Given the description of an element on the screen output the (x, y) to click on. 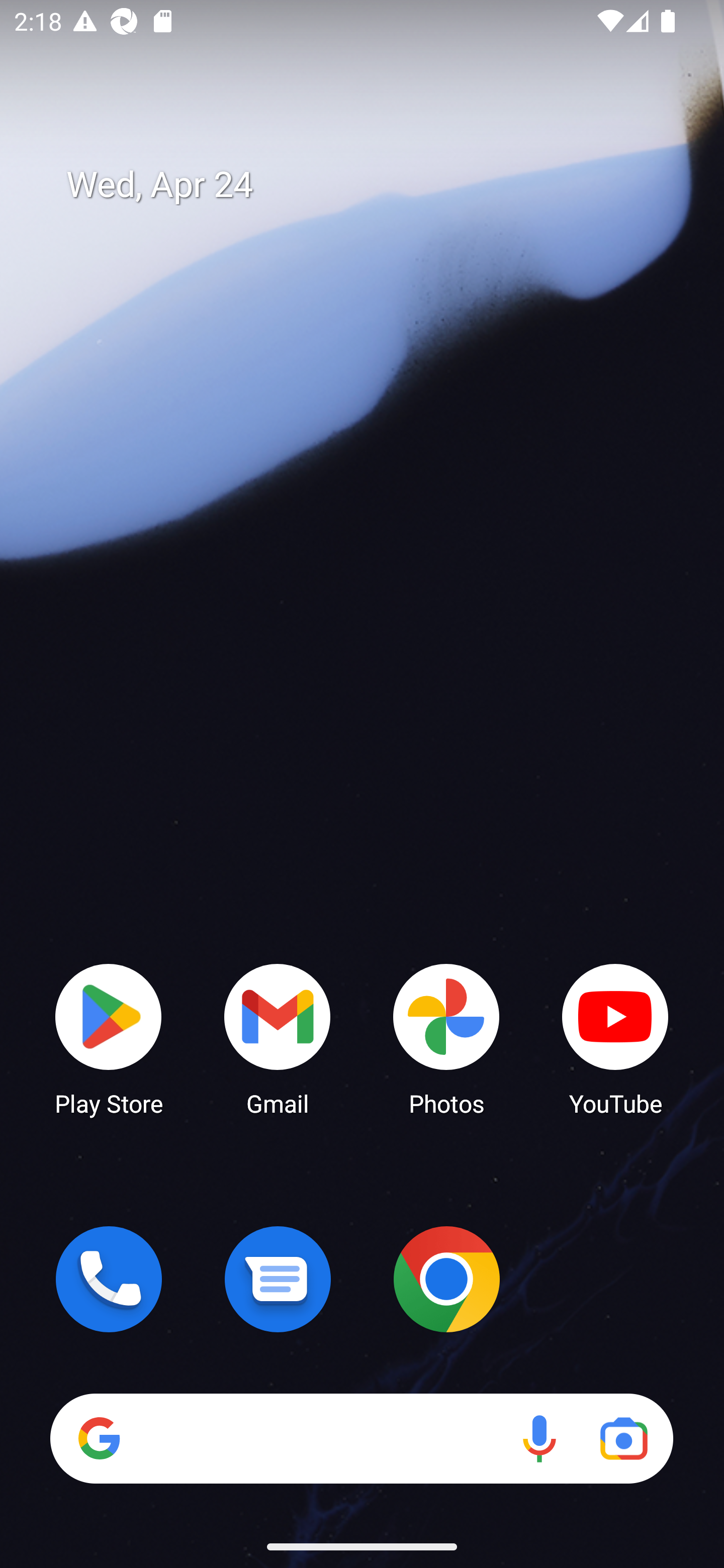
Wed, Apr 24 (375, 184)
Play Store (108, 1038)
Gmail (277, 1038)
Photos (445, 1038)
YouTube (615, 1038)
Phone (108, 1279)
Messages (277, 1279)
Chrome (446, 1279)
Search Voice search Google Lens (361, 1438)
Voice search (539, 1438)
Google Lens (623, 1438)
